Given the description of an element on the screen output the (x, y) to click on. 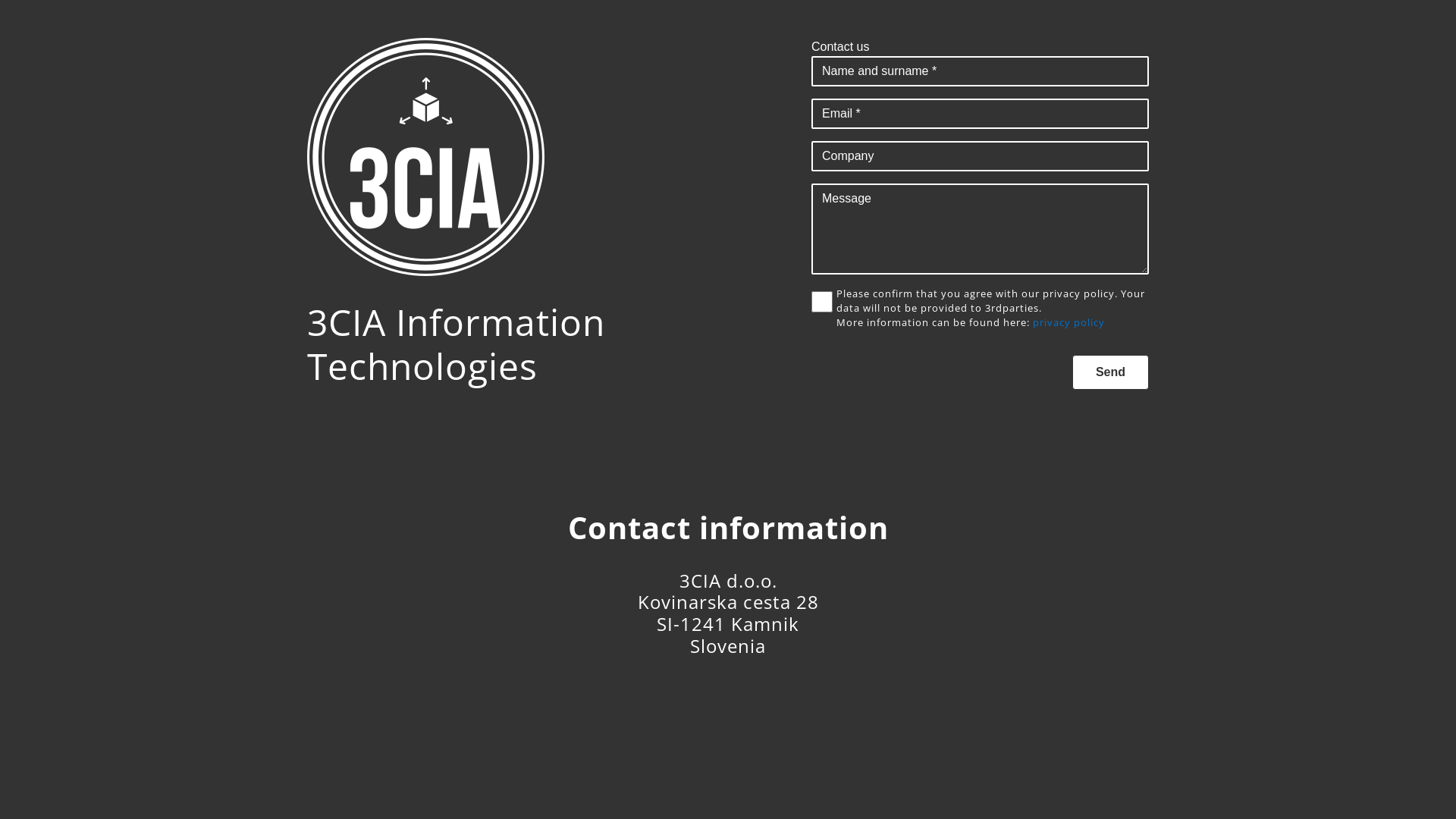
privacy policy Element type: text (1068, 322)
Send Element type: text (1110, 371)
